Given the description of an element on the screen output the (x, y) to click on. 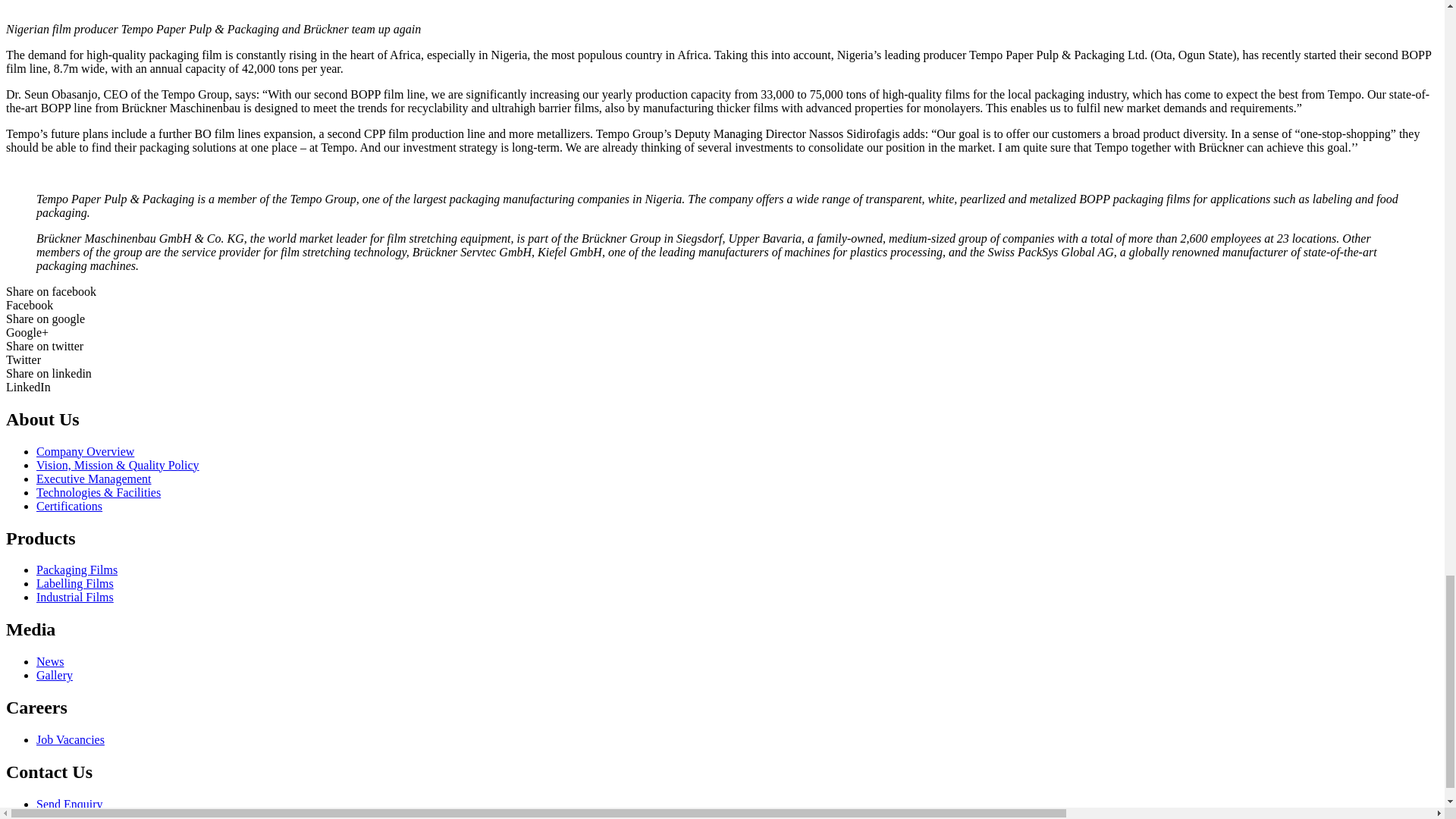
Labelling Films (74, 583)
Certifications (68, 505)
Executive Management (93, 478)
Company Overview (84, 451)
Packaging Films (76, 569)
